Given the description of an element on the screen output the (x, y) to click on. 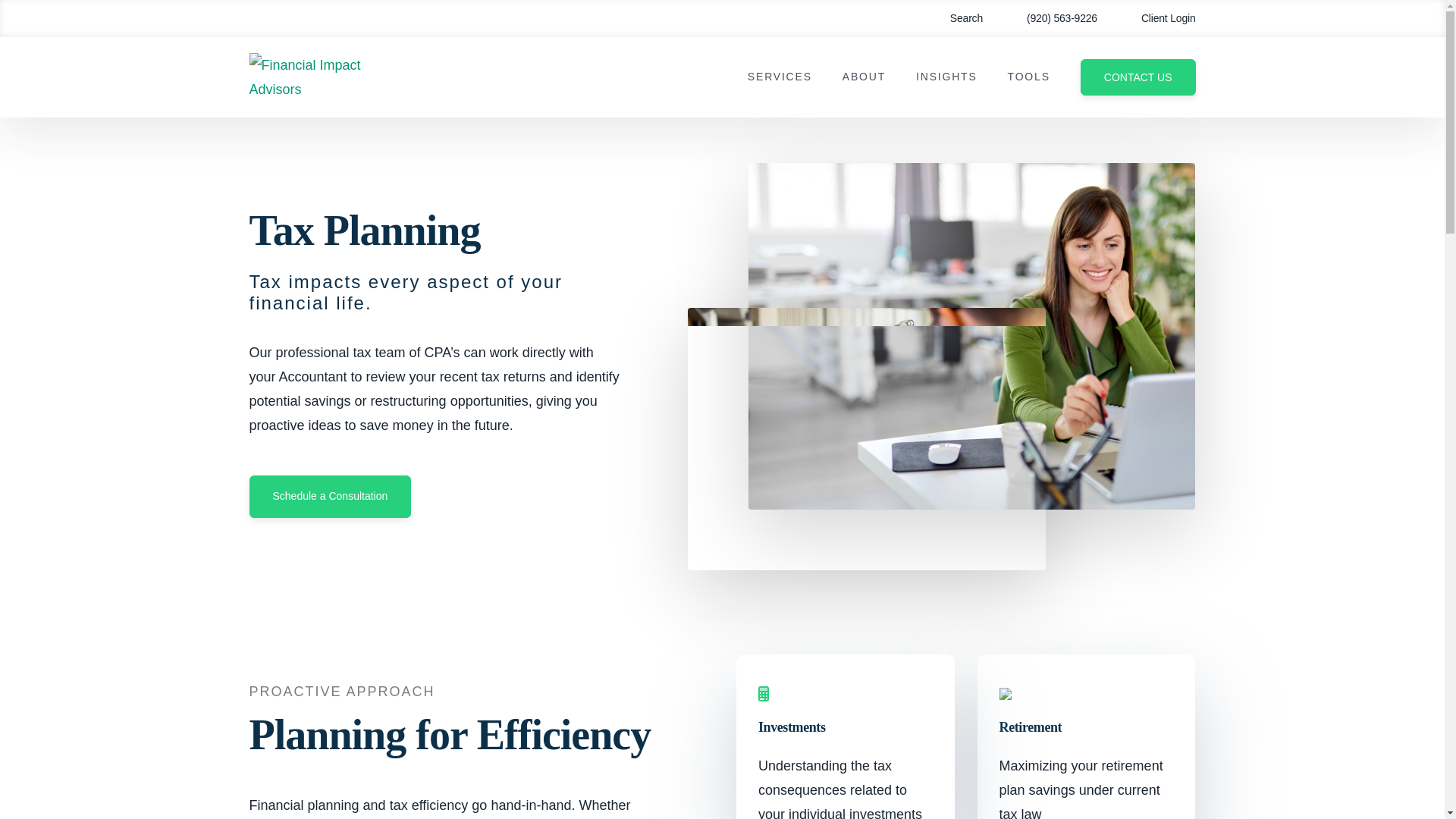
INSIGHTS (945, 77)
CONTACT US (1137, 76)
TOOLS (1028, 77)
ABOUT (864, 77)
SERVICES (780, 77)
Client Login (1157, 18)
Search (955, 18)
